Given the description of an element on the screen output the (x, y) to click on. 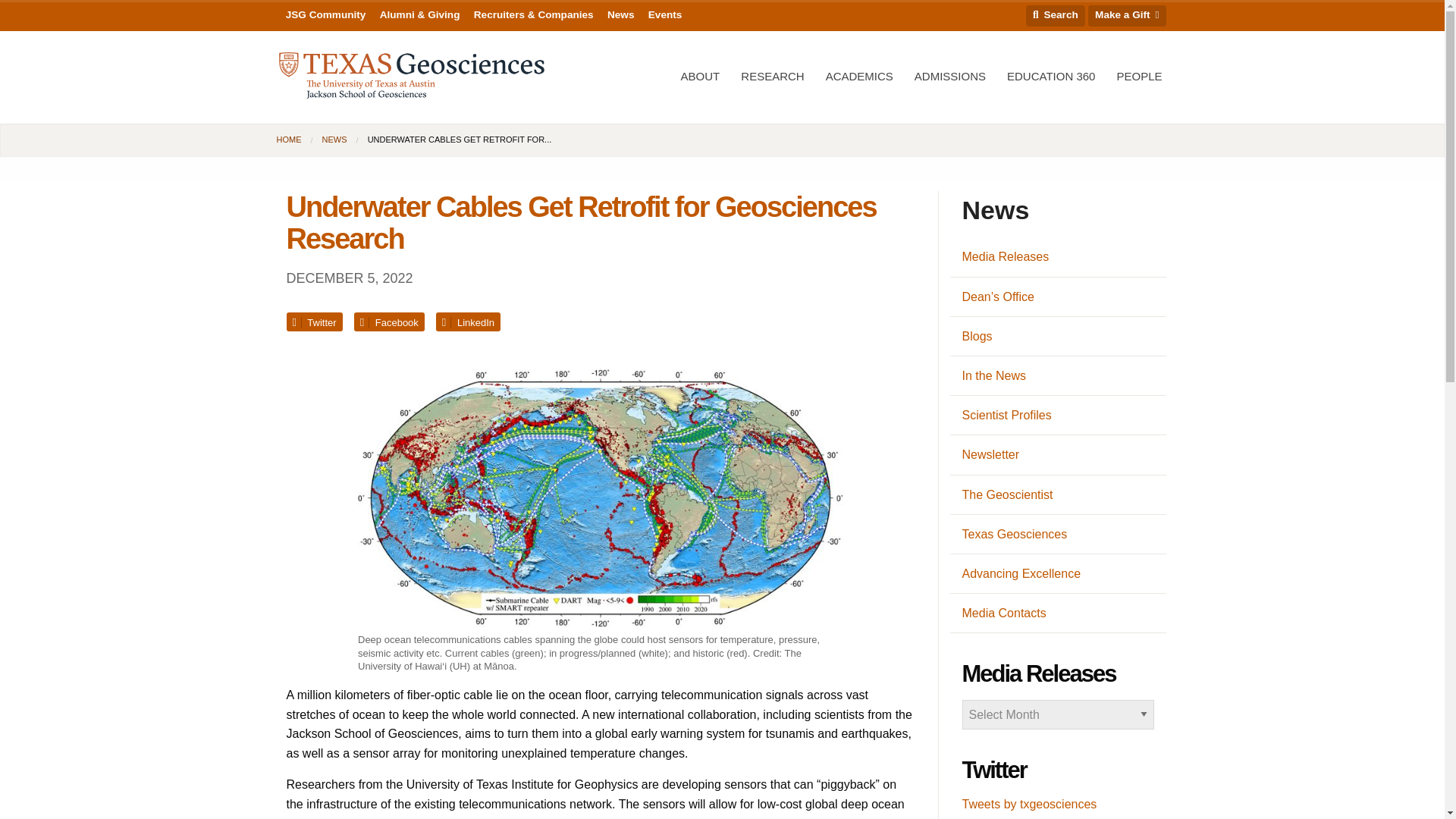
Jackson School of Geosciences (411, 75)
Search (1055, 15)
Events (665, 15)
News (620, 15)
Archives (1056, 714)
JSG Community (325, 15)
